Given the description of an element on the screen output the (x, y) to click on. 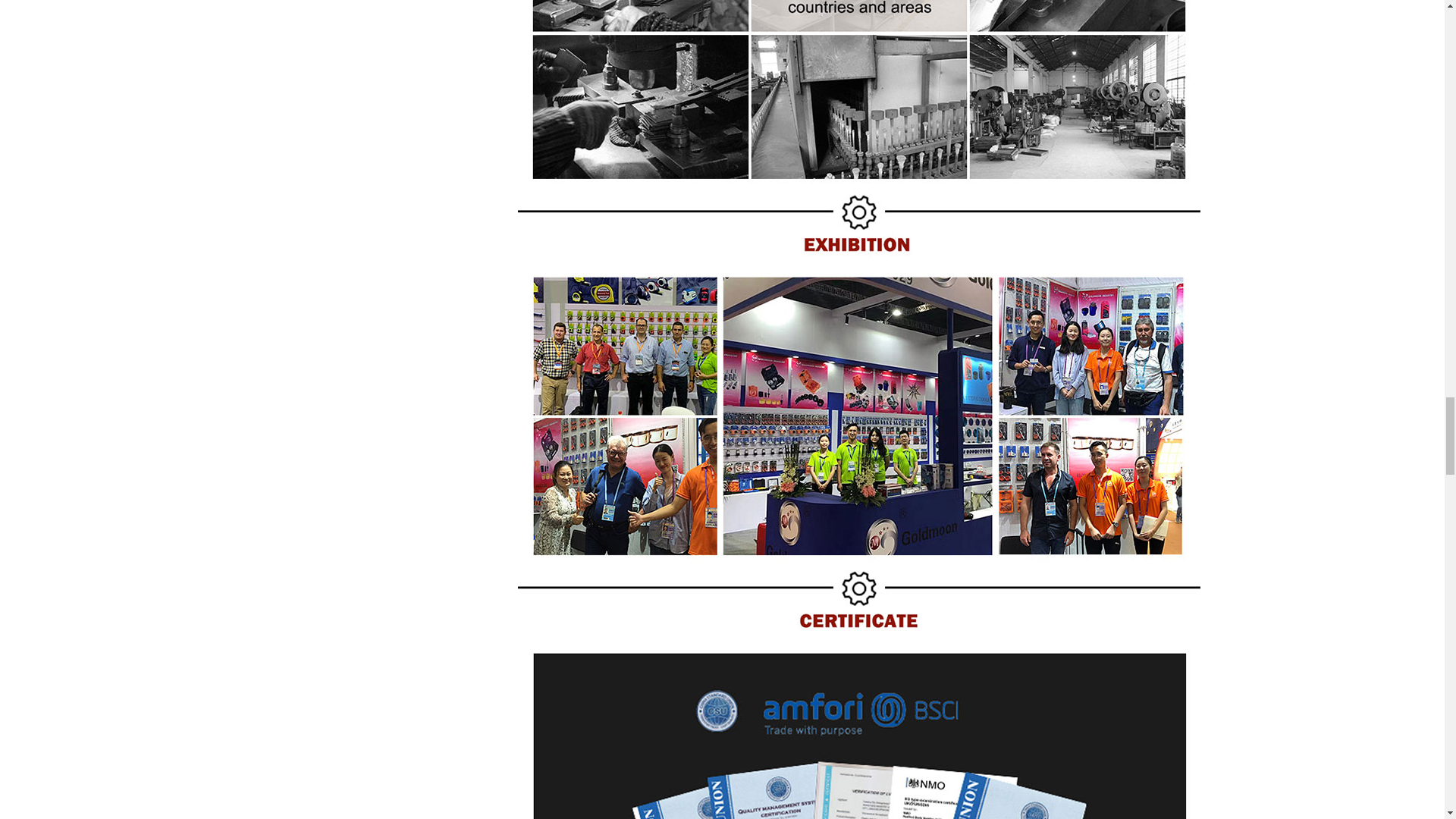
821678180163299.jpg (857, 226)
9021678180159172.jpg (857, 93)
